Given the description of an element on the screen output the (x, y) to click on. 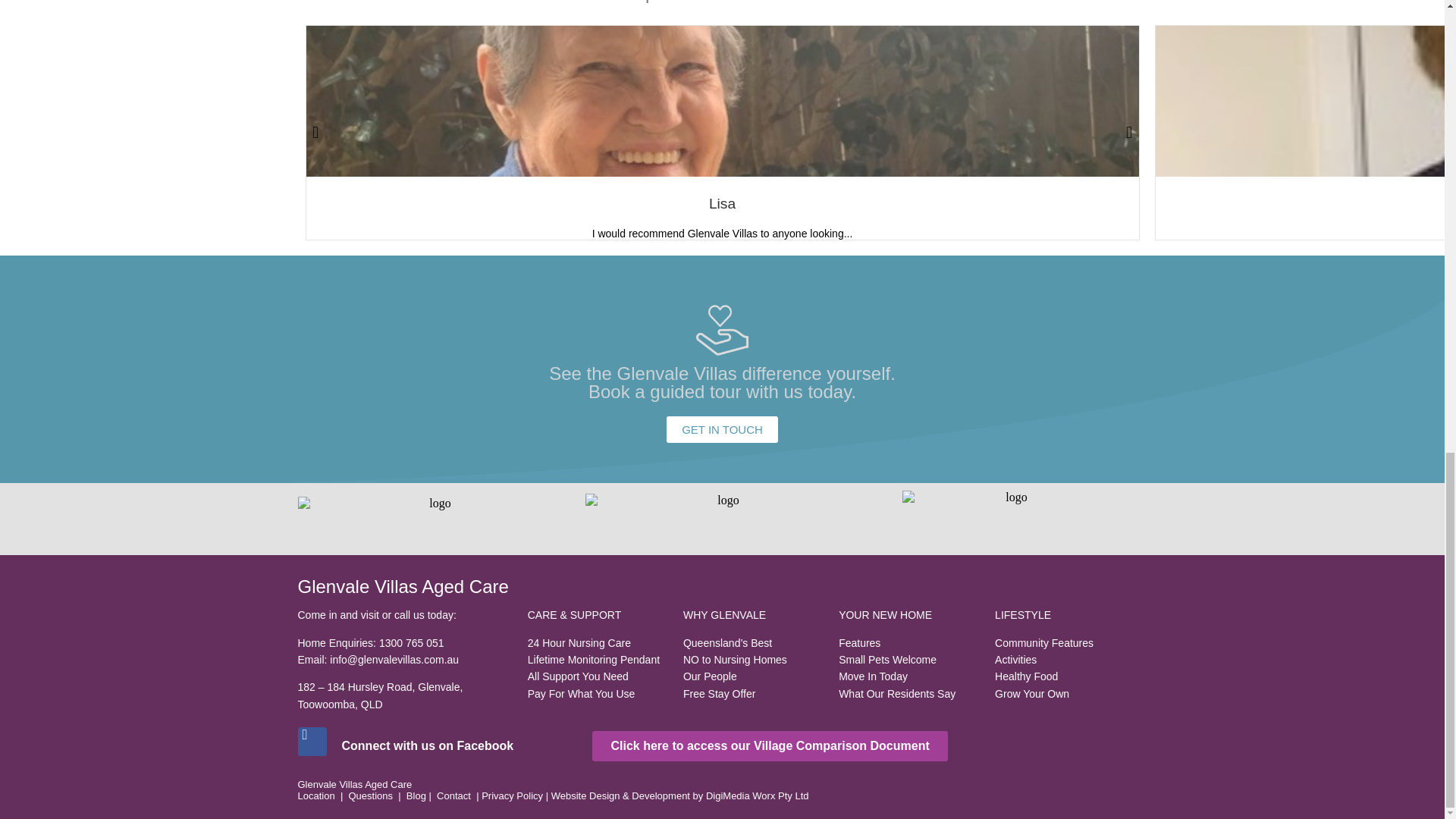
Lisa (722, 203)
Lisa (722, 203)
Page 1 (753, 653)
Page 1 (597, 653)
Page 1 (430, 745)
Page 1 (1070, 653)
Page 1 (404, 659)
Page 1 (908, 653)
Page 1 (722, 789)
